Given the description of an element on the screen output the (x, y) to click on. 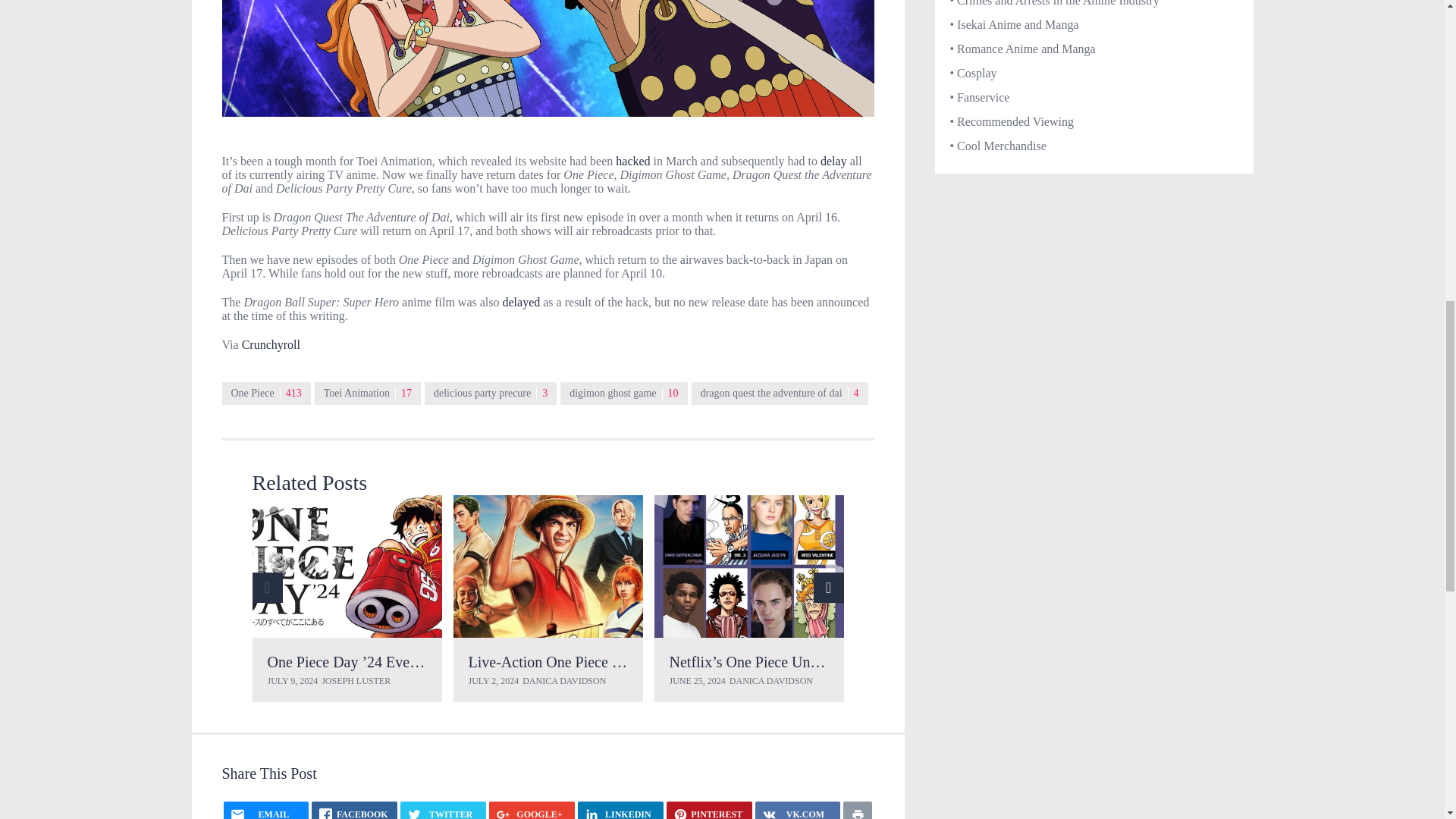
Toei Animation 17 (367, 393)
Crunchyroll (270, 344)
One Piece 413 (265, 393)
delay (834, 160)
delayed (521, 301)
hacked (632, 160)
delicious party precure 3 (490, 393)
